Given the description of an element on the screen output the (x, y) to click on. 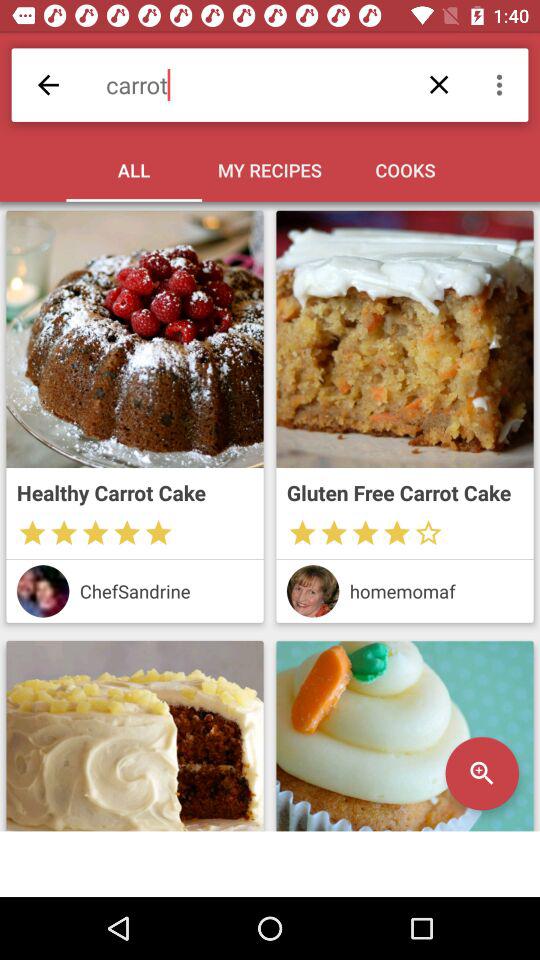
toggle recipe (404, 339)
